Given the description of an element on the screen output the (x, y) to click on. 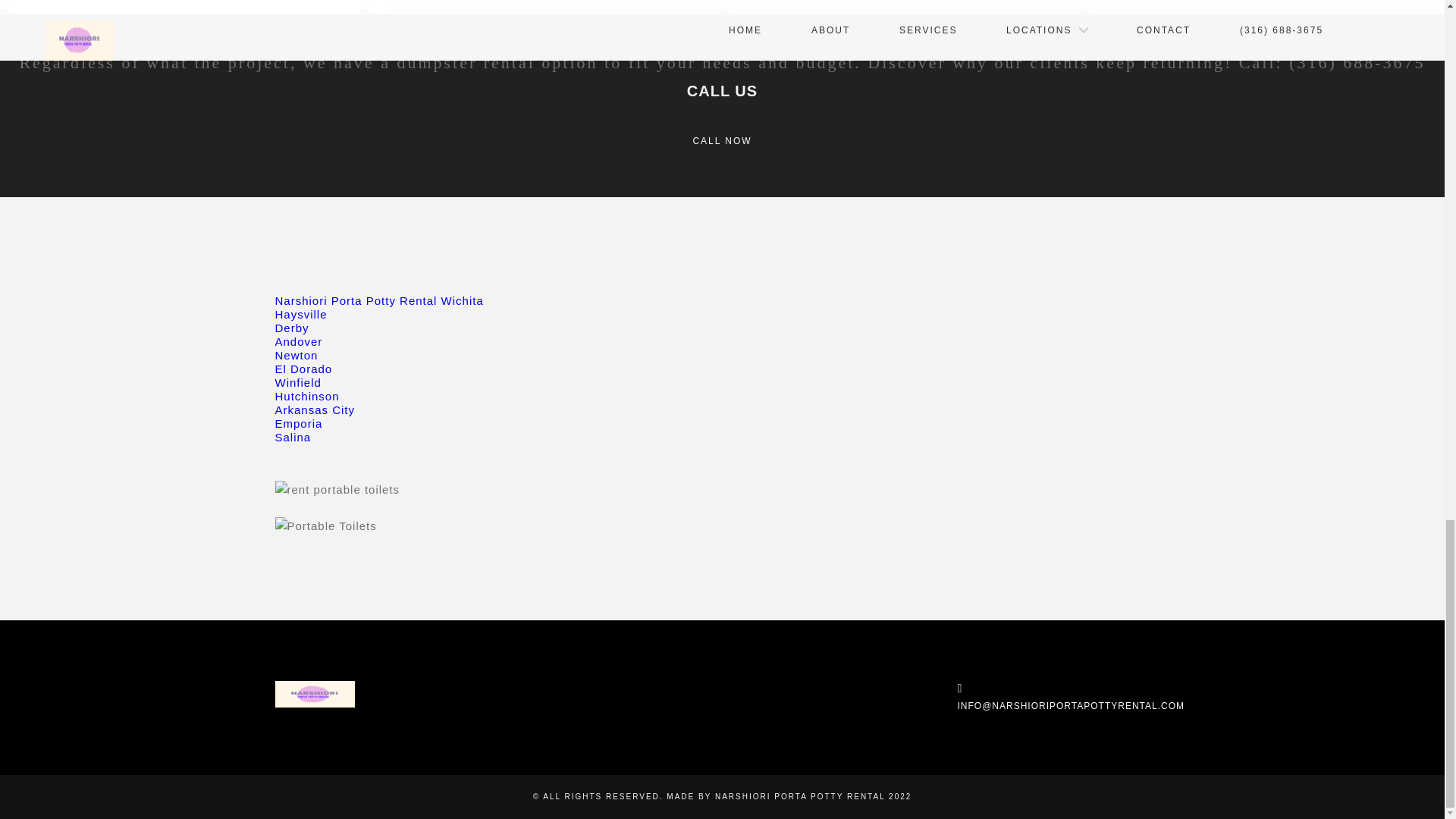
Arkansas City (315, 409)
Hutchinson (307, 395)
Narshiori Porta Potty Rental Wichita (379, 300)
CALL NOW (721, 140)
Emporia (298, 422)
Winfield (297, 382)
Newton (296, 354)
Derby (291, 327)
El Dorado (303, 368)
Andover (298, 341)
Haysville (300, 314)
Salina (293, 436)
